Given the description of an element on the screen output the (x, y) to click on. 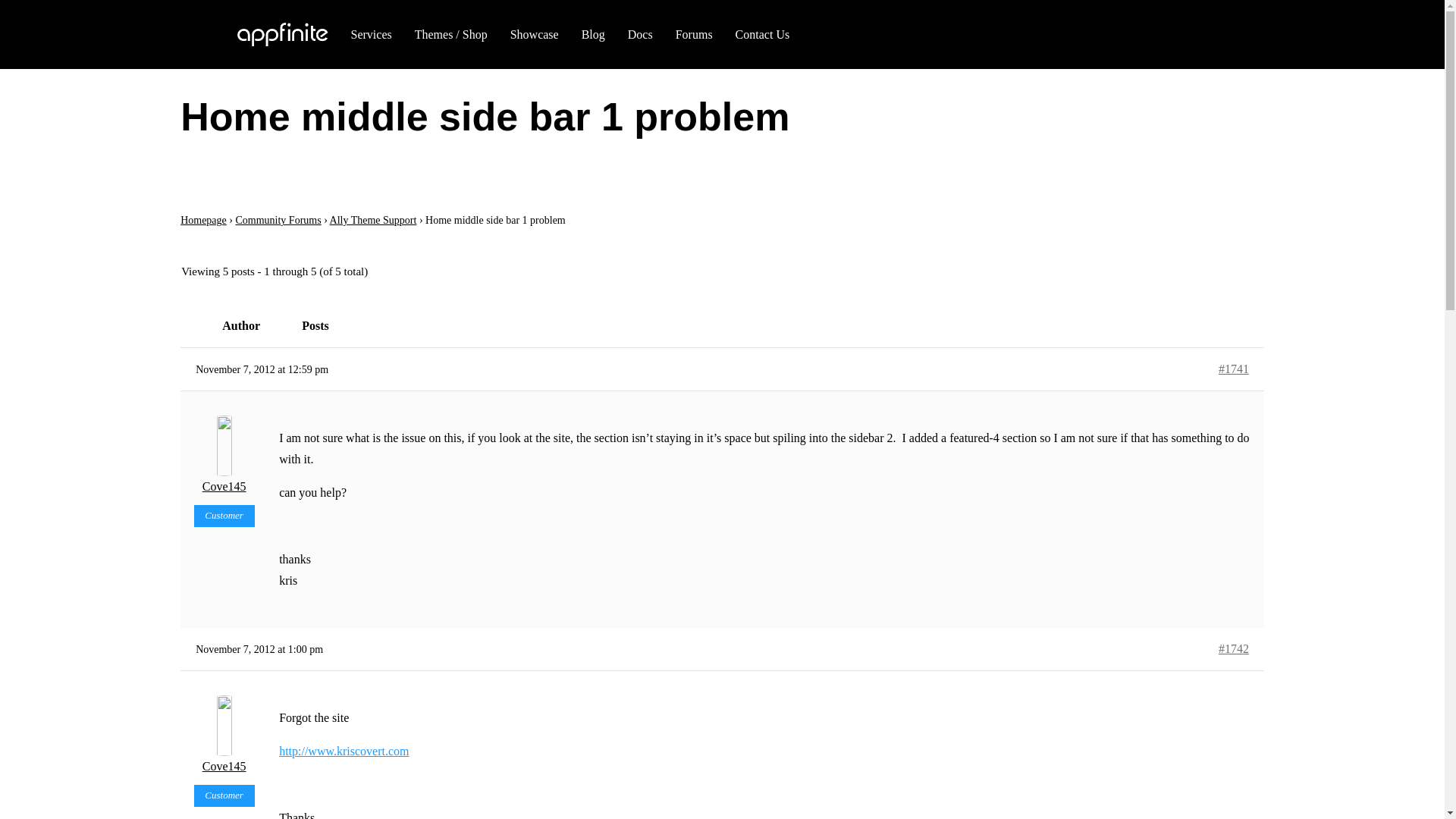
Services (370, 34)
Community Forums (277, 220)
View Cove145's profile (223, 736)
Showcase (535, 34)
Forums (694, 34)
Cove145 (223, 456)
Blog (592, 34)
Docs (639, 34)
Homepage (203, 220)
Contact Us (762, 34)
Cove145 (223, 736)
Ally Theme Support (373, 220)
View Cove145's profile (223, 456)
